Given the description of an element on the screen output the (x, y) to click on. 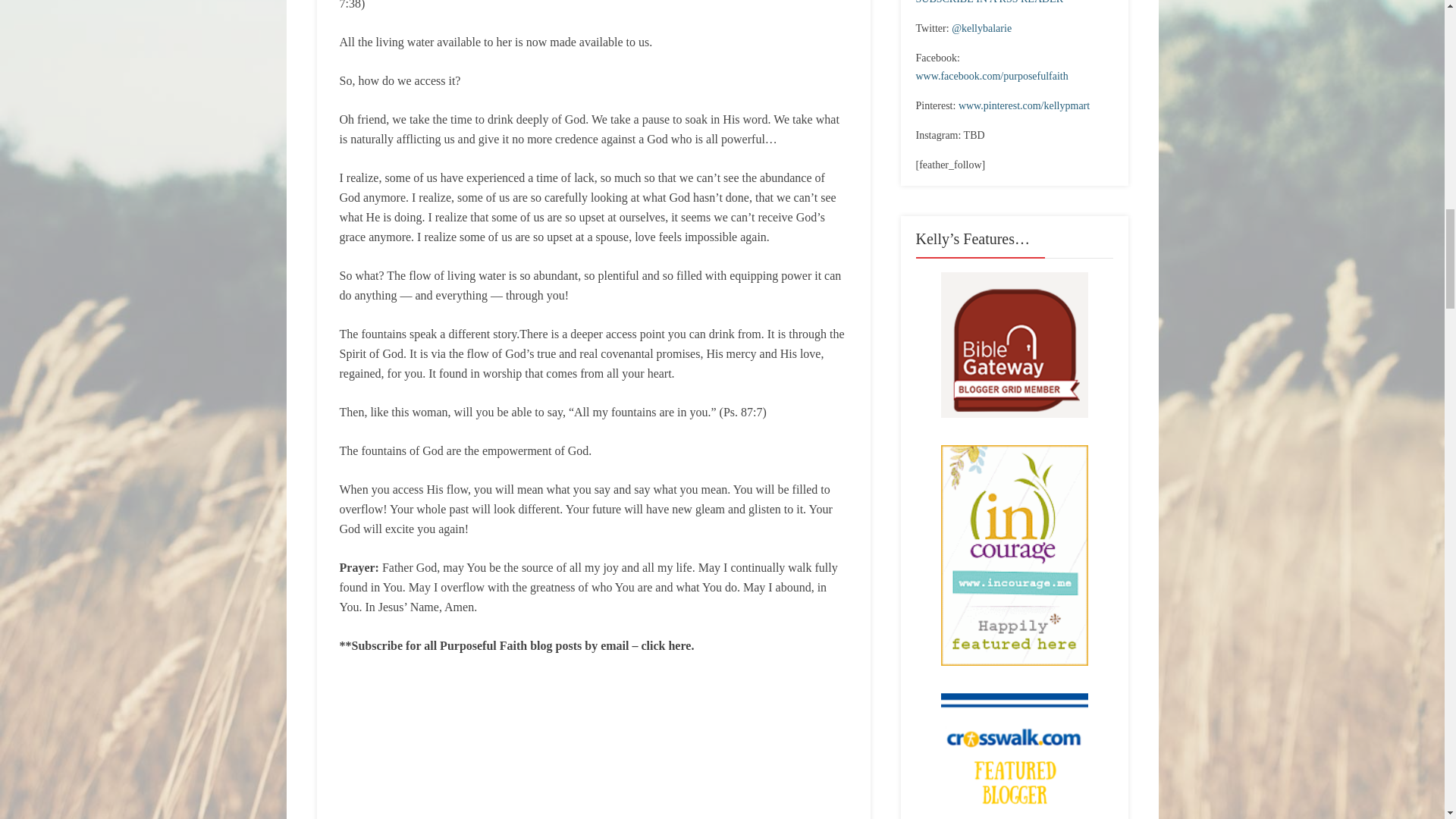
click here. (667, 645)
